Given the description of an element on the screen output the (x, y) to click on. 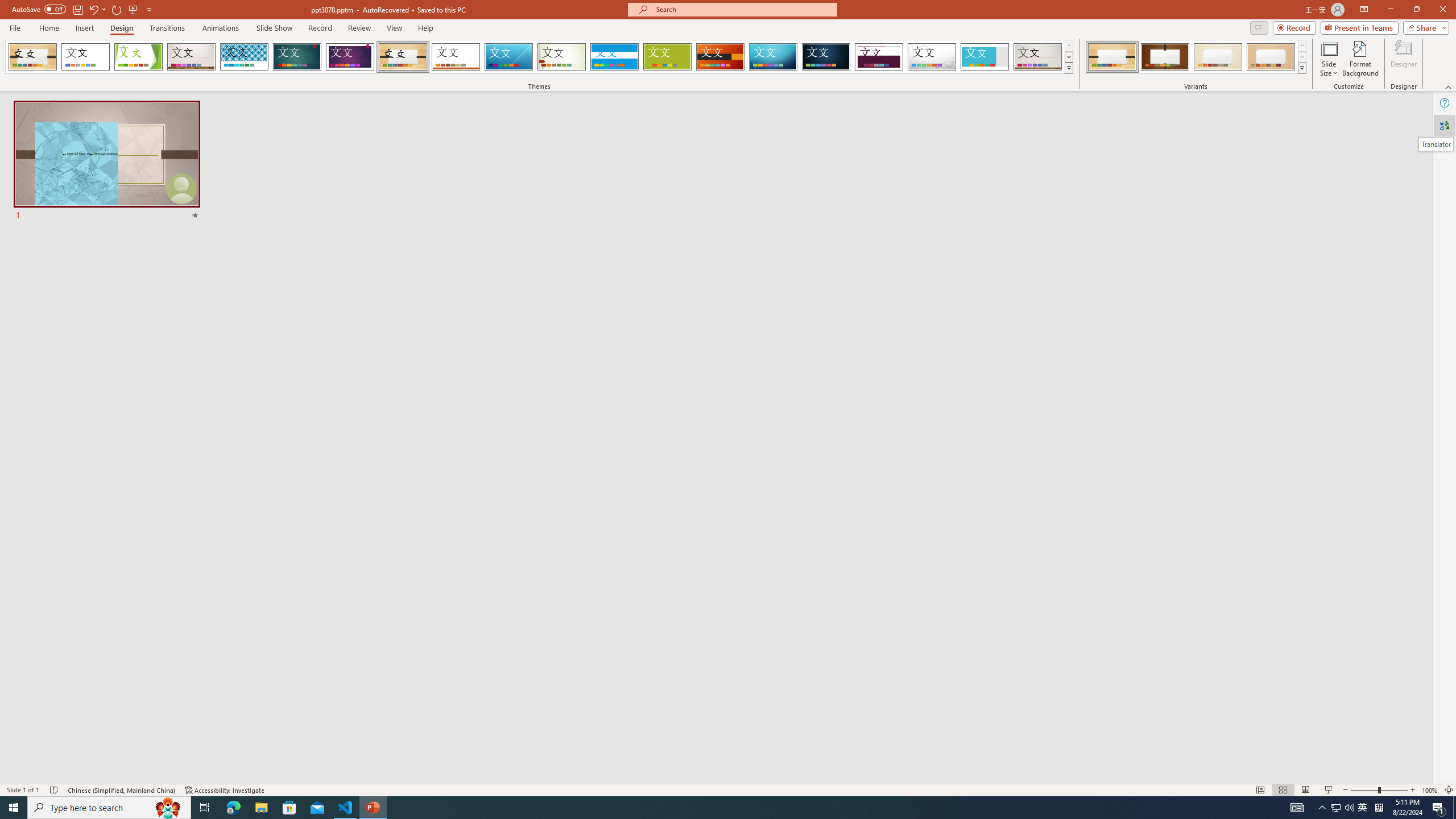
AutomationID: ThemeVariantsGallery (1195, 56)
Circuit (772, 56)
Ion (296, 56)
Slide Size (1328, 58)
Office Theme (85, 56)
Class: MsoCommandBar (728, 789)
Zoom 100% (1430, 790)
Wisp (561, 56)
